Given the description of an element on the screen output the (x, y) to click on. 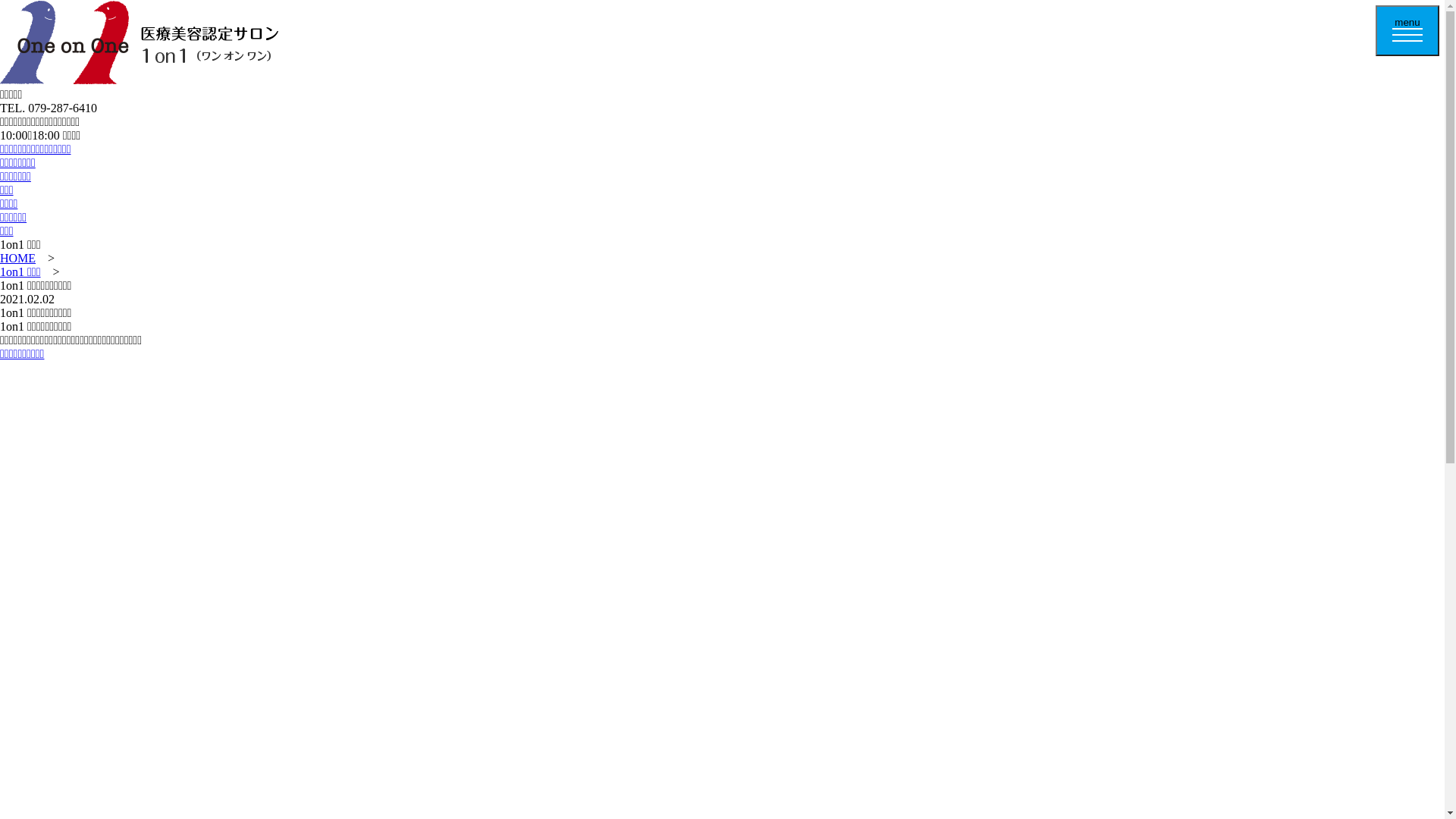
menu Element type: text (1407, 30)
HOME Element type: text (17, 257)
